Given the description of an element on the screen output the (x, y) to click on. 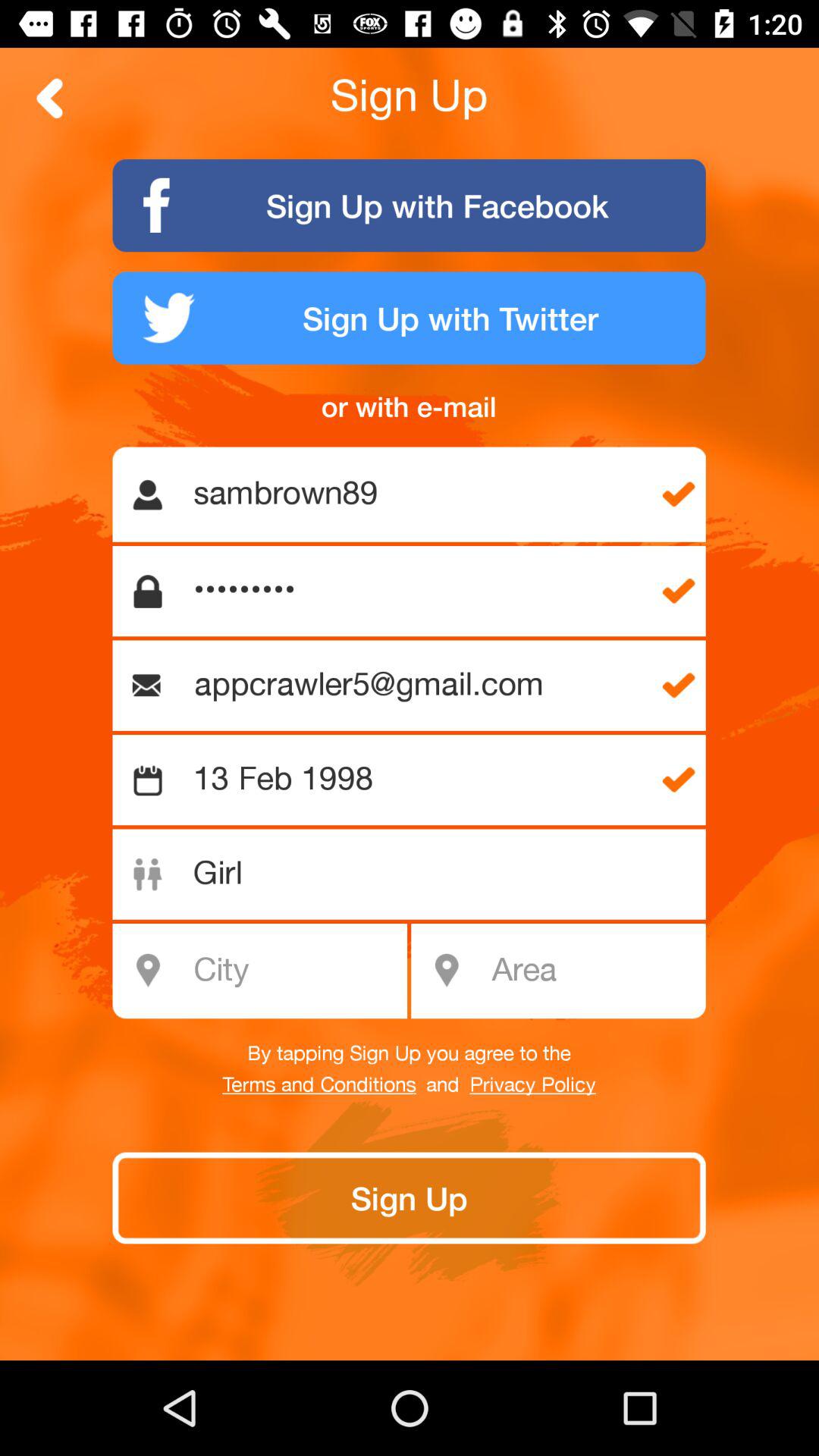
click the crowd3116 item (417, 591)
